Given the description of an element on the screen output the (x, y) to click on. 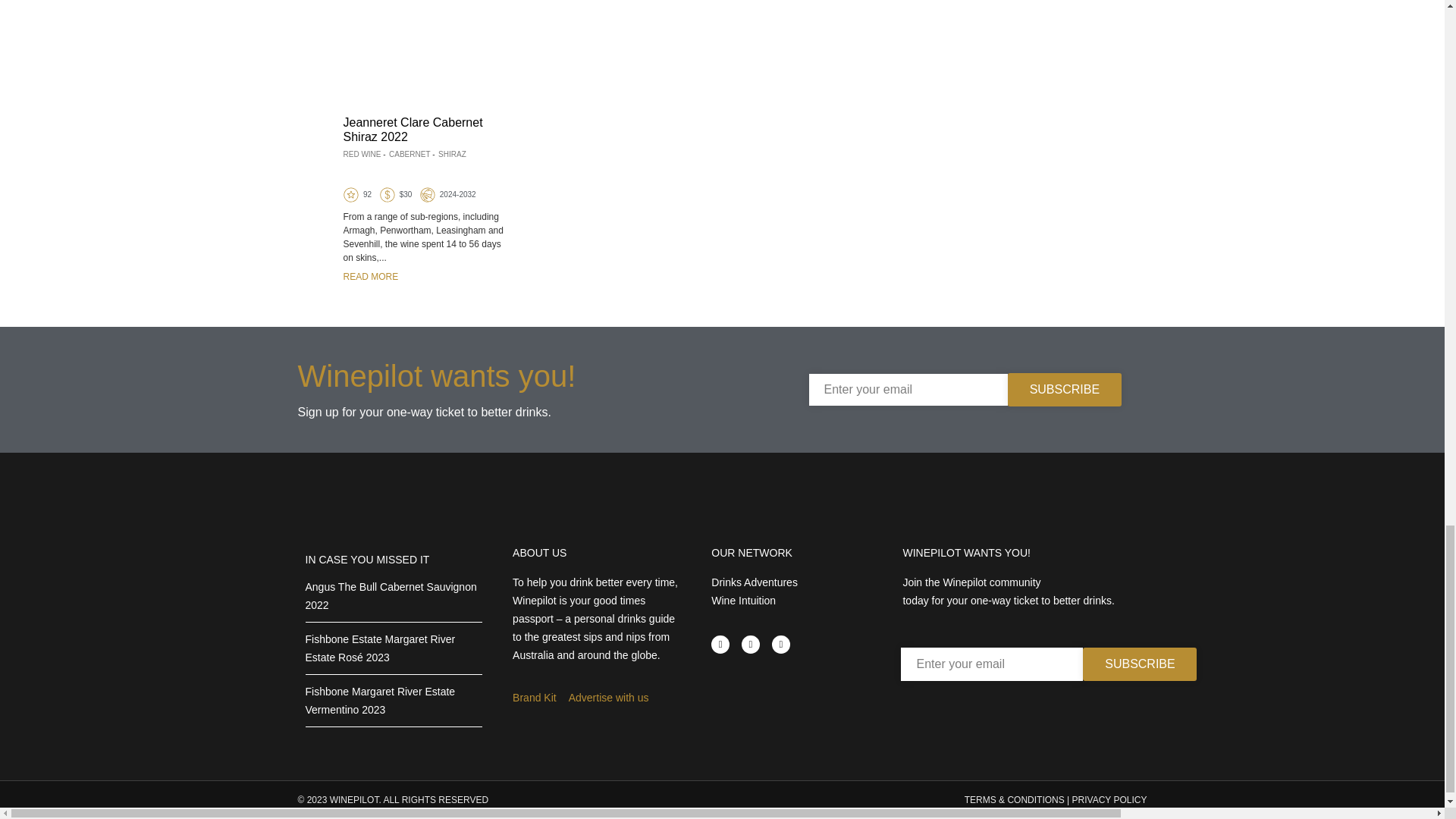
SHIRAZ (451, 153)
SUBSCRIBE (1064, 388)
READ MORE (369, 276)
CABERNET (408, 153)
RED WINE (361, 153)
SUBSCRIBE (1139, 663)
